Given the description of an element on the screen output the (x, y) to click on. 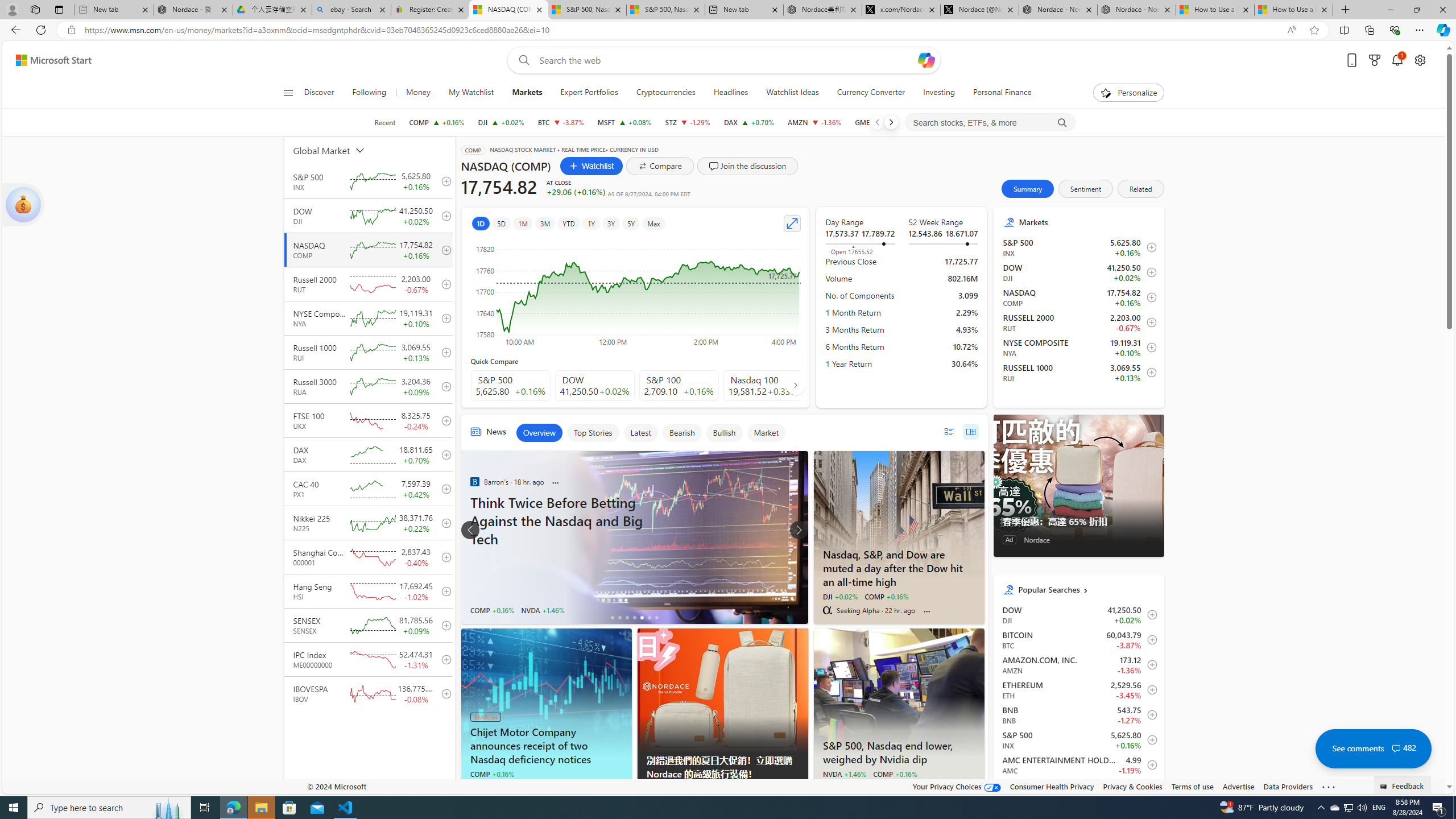
DJI DOW increase 41,250.50 +9.98 +0.02% (500, 122)
Headlines (730, 92)
Data Providers (1288, 786)
S&P 500, Nasdaq end lower, weighed by Nvidia dip - Reuters (898, 750)
S&P 500, Nasdaq end lower, weighed by Nvidia dip | Watch (665, 9)
list layout (948, 431)
AMZN AMAZON.COM, INC. decrease 173.12 -2.38 -1.36% (814, 122)
Investing (939, 92)
5Y (630, 223)
